Given the description of an element on the screen output the (x, y) to click on. 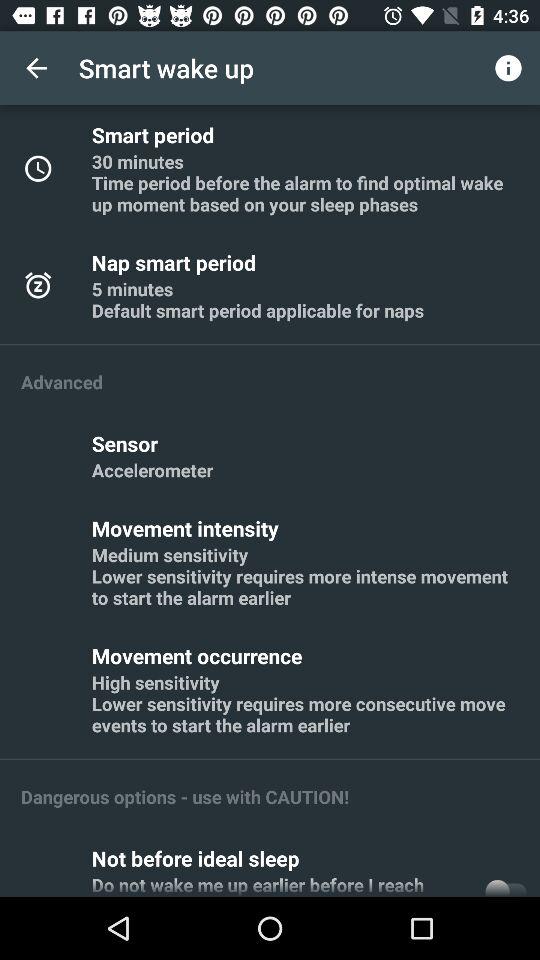
turn on movement intensity icon (188, 528)
